Given the description of an element on the screen output the (x, y) to click on. 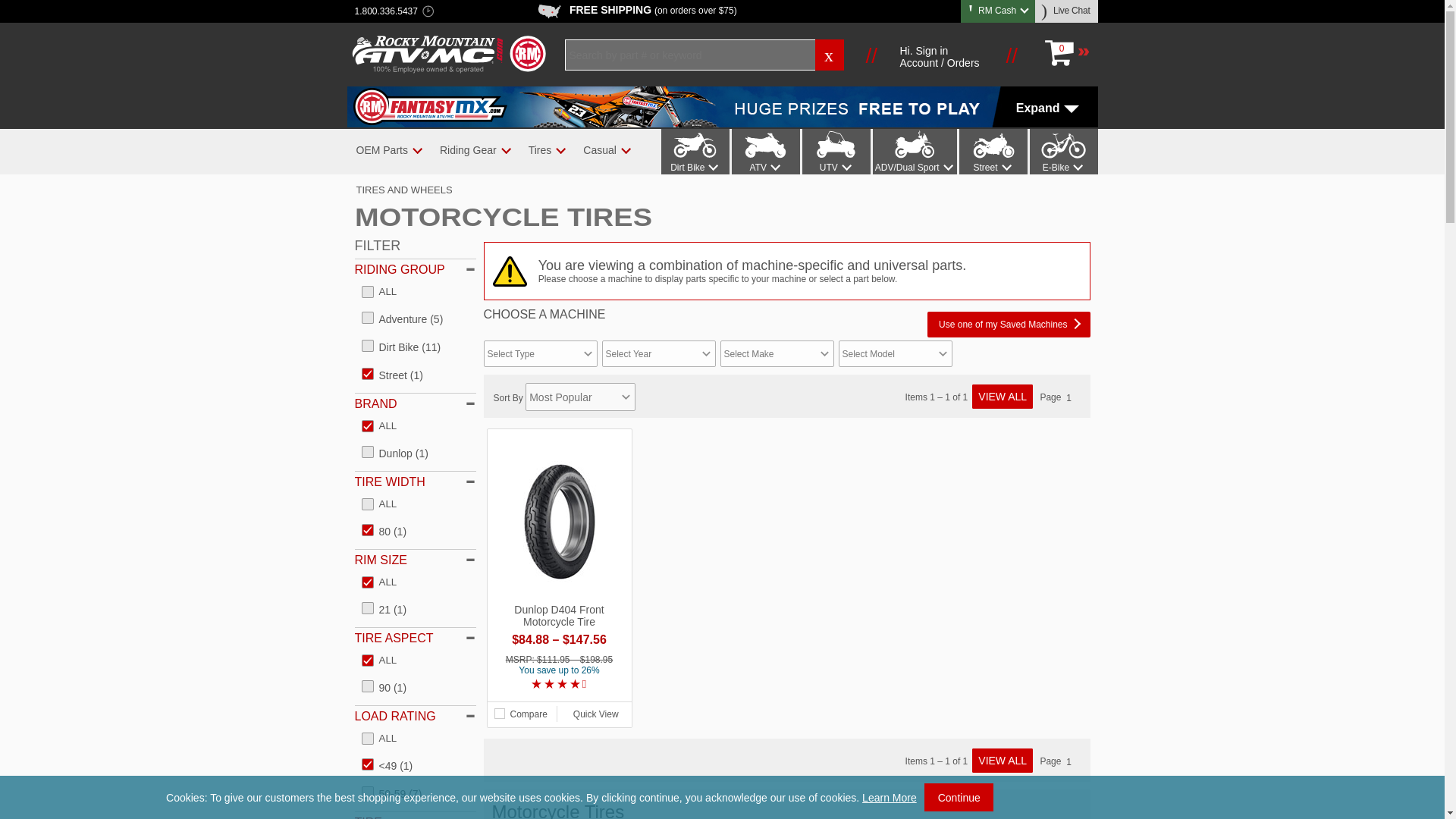
1.800.336.5437 (386, 12)
Live Chat (1067, 11)
Continue (958, 796)
Select Year (659, 353)
RM Cash (997, 9)
OEM Parts (381, 150)
Select Type (539, 353)
0 (1066, 53)
Select Model (895, 353)
Learn More (889, 797)
Expand (722, 106)
Select Make (777, 353)
